Given the description of an element on the screen output the (x, y) to click on. 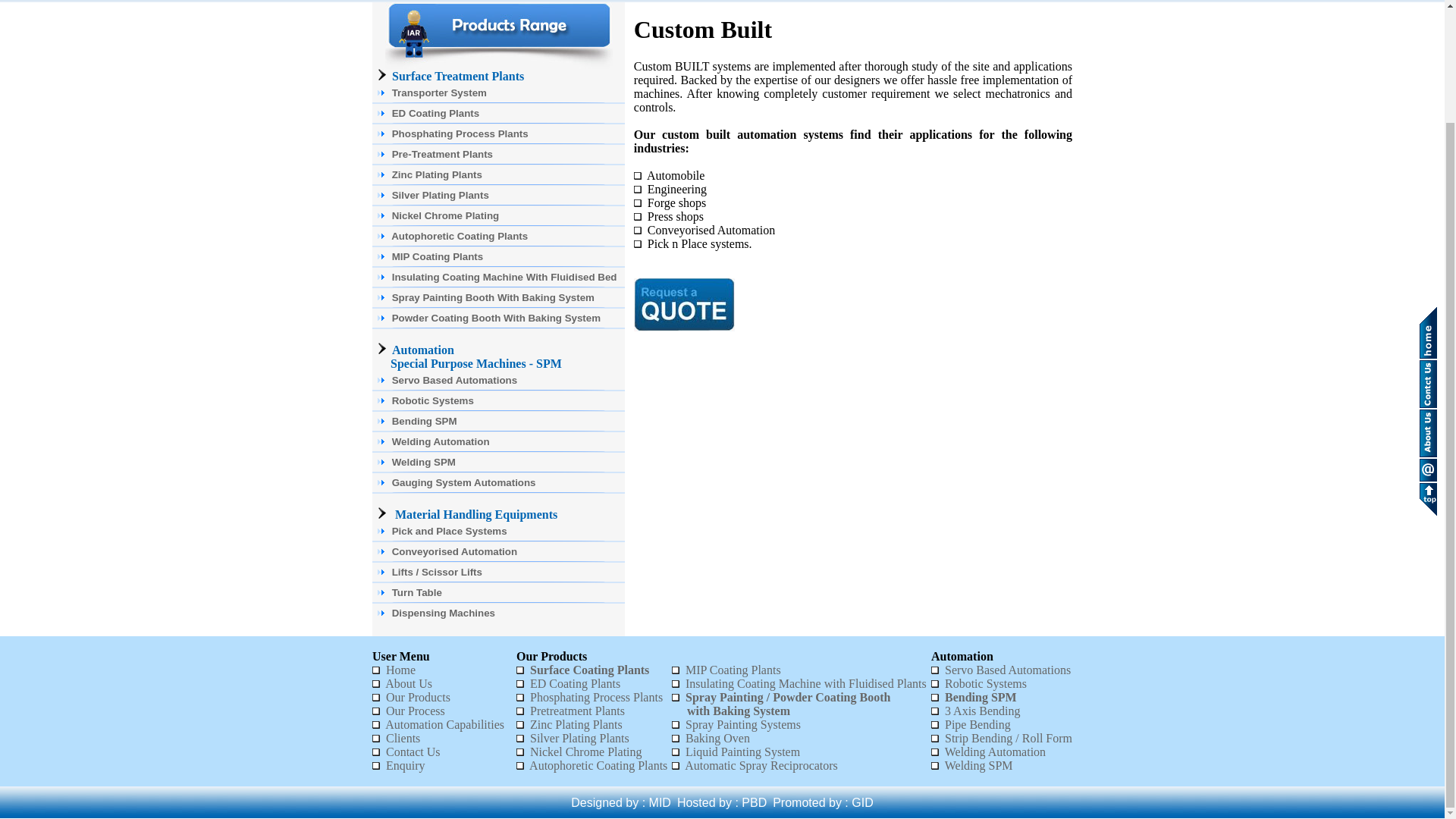
 Bending SPM (498, 420)
 Welding Automation (498, 441)
 Transporter System (498, 92)
 Spray Painting Booth With Baking System   (498, 297)
 Turn Table (498, 592)
Automation (422, 349)
Our Products (417, 697)
 Gauging System Automations (498, 482)
 Zinc Plating Plants (498, 174)
 Phosphating Process Plants (498, 133)
 Nickel Chrome Plating (498, 215)
About Us (408, 683)
 Conveyorised Automation (498, 551)
Our Process (415, 710)
 Pre-Treatment Plants (498, 153)
